Given the description of an element on the screen output the (x, y) to click on. 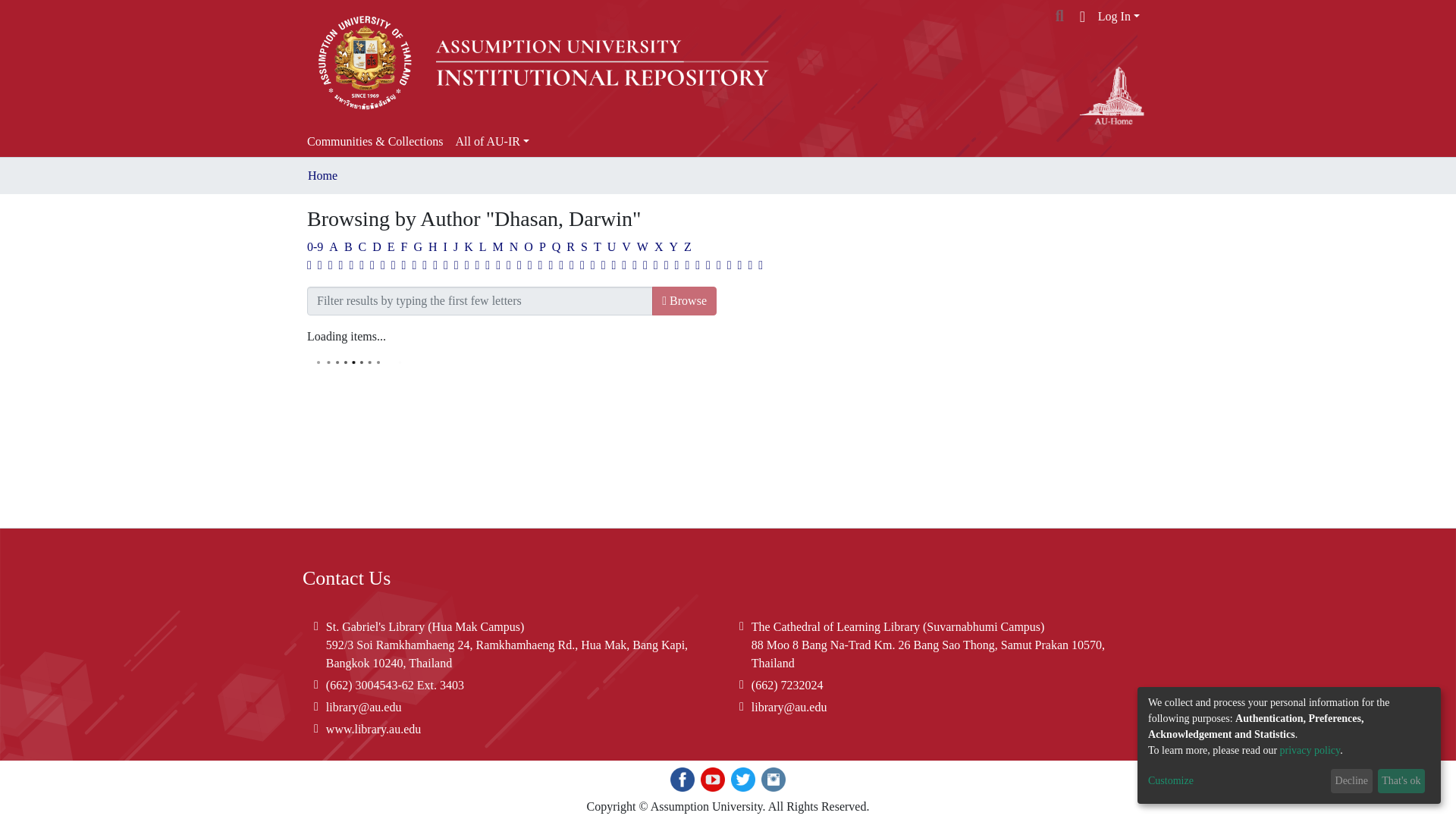
Search (1059, 15)
Log In (1118, 15)
All of AU-IR (492, 141)
Home (322, 176)
0-9 (315, 246)
Language switch (1082, 16)
